Given the description of an element on the screen output the (x, y) to click on. 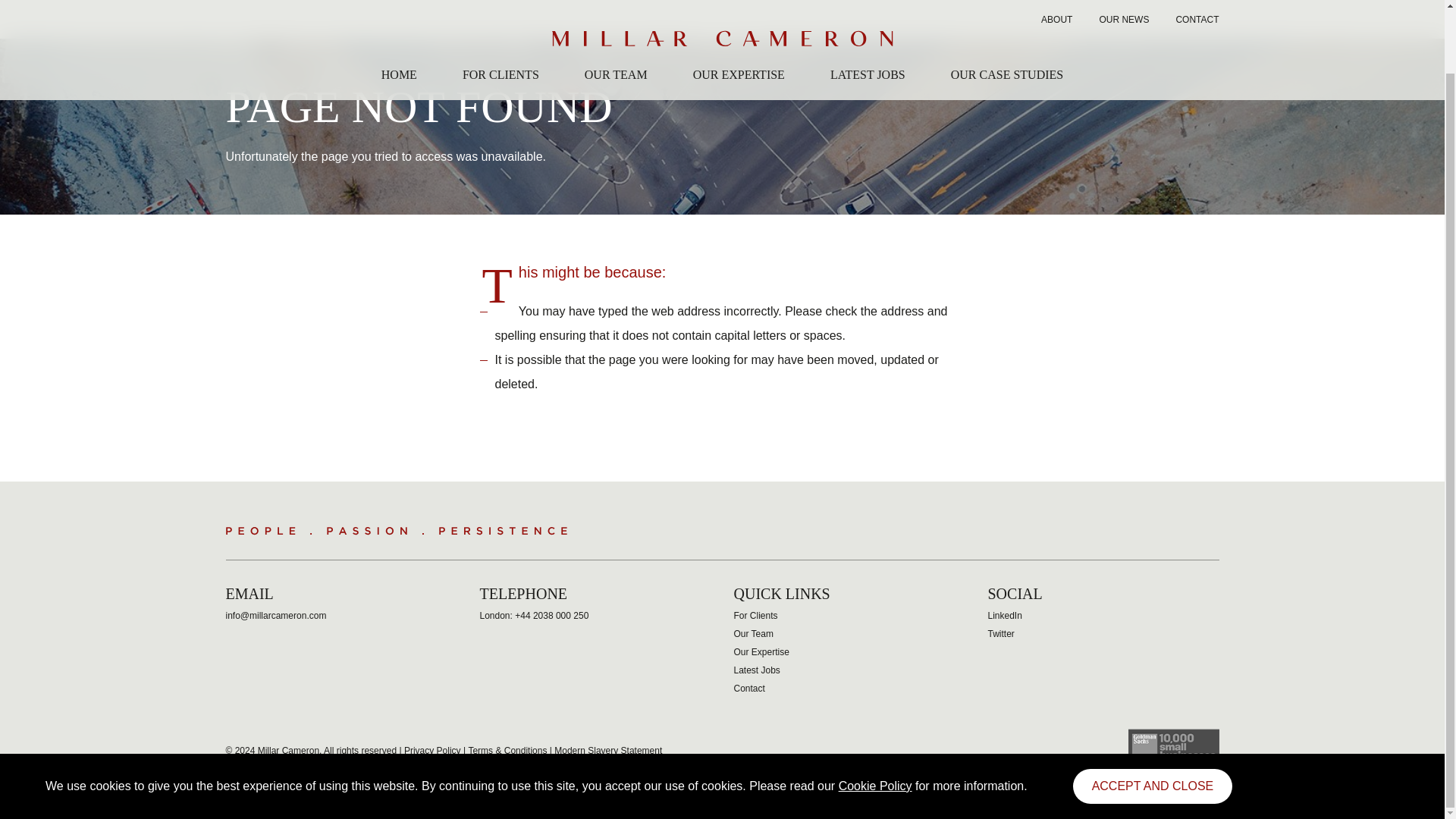
Modern Slavery Statement (608, 750)
Privacy Policy (432, 750)
For Clients (755, 615)
OUR CASE STUDIES (1006, 15)
LATEST JOBS (867, 15)
ACCEPT AND CLOSE (1153, 717)
OUR EXPERTISE (738, 15)
FOR CLIENTS (500, 15)
Cookie Policy (875, 716)
Latest Jobs (756, 670)
